Given the description of an element on the screen output the (x, y) to click on. 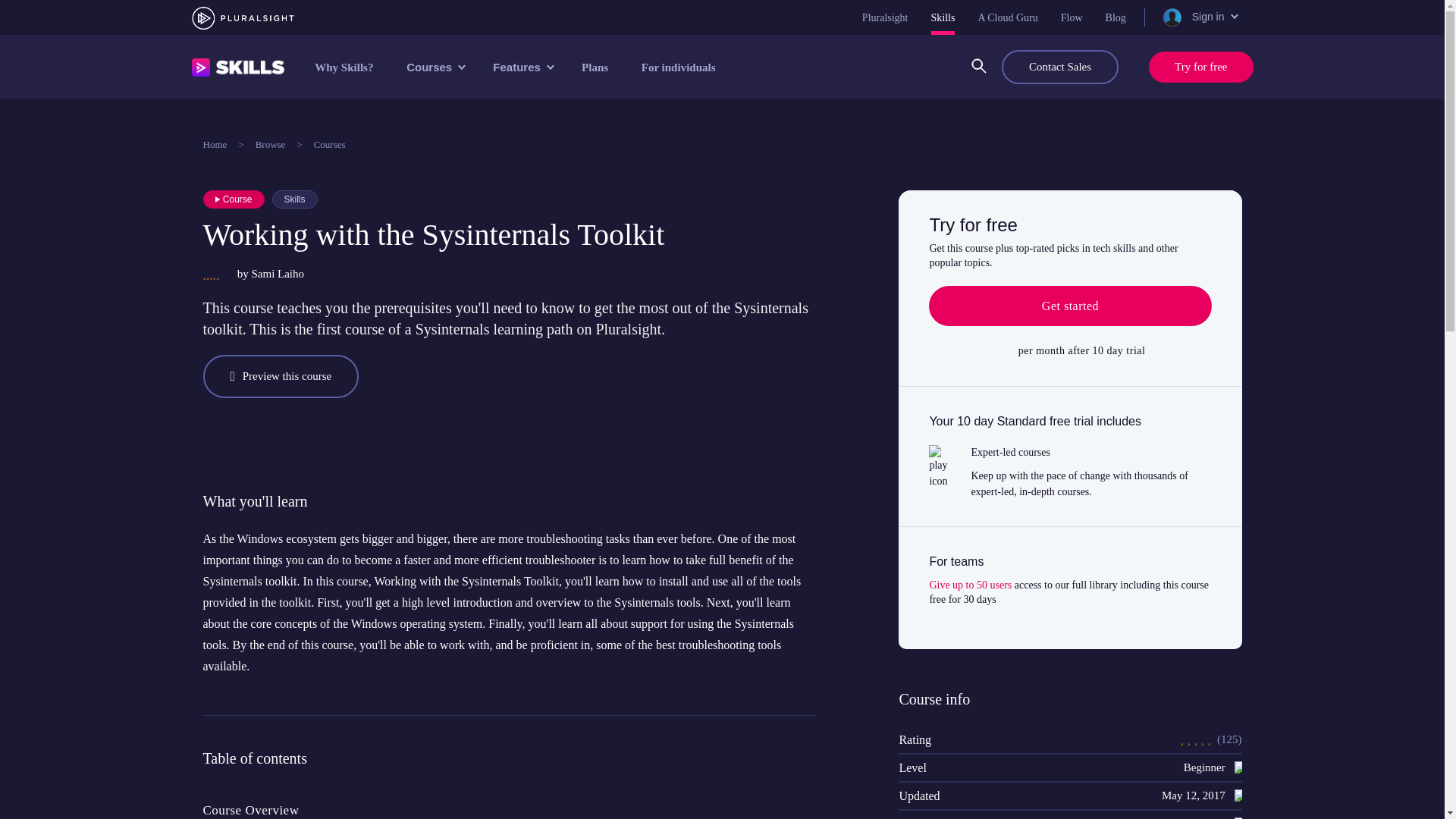
Sign in (1198, 17)
Blog (1115, 16)
Skills (943, 16)
Flow (1072, 16)
Why Skills? (344, 66)
Start free trial now (1069, 305)
Courses (434, 66)
Pluralsight (884, 16)
A Cloud Guru (1006, 16)
